Given the description of an element on the screen output the (x, y) to click on. 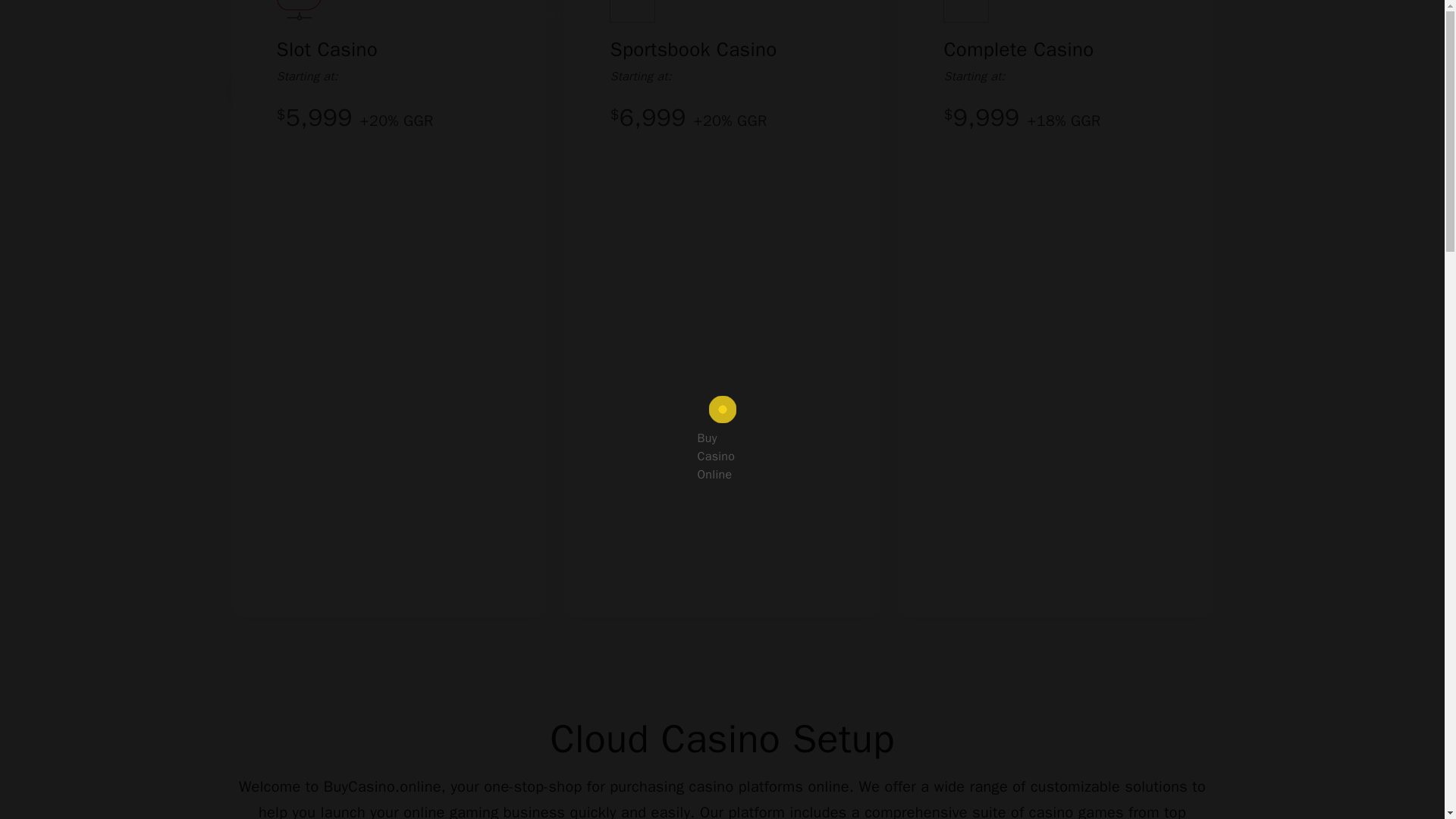
Learn More (419, 87)
Learn more (419, 87)
Casino Prices (290, 87)
Casino Prices (290, 87)
